Given the description of an element on the screen output the (x, y) to click on. 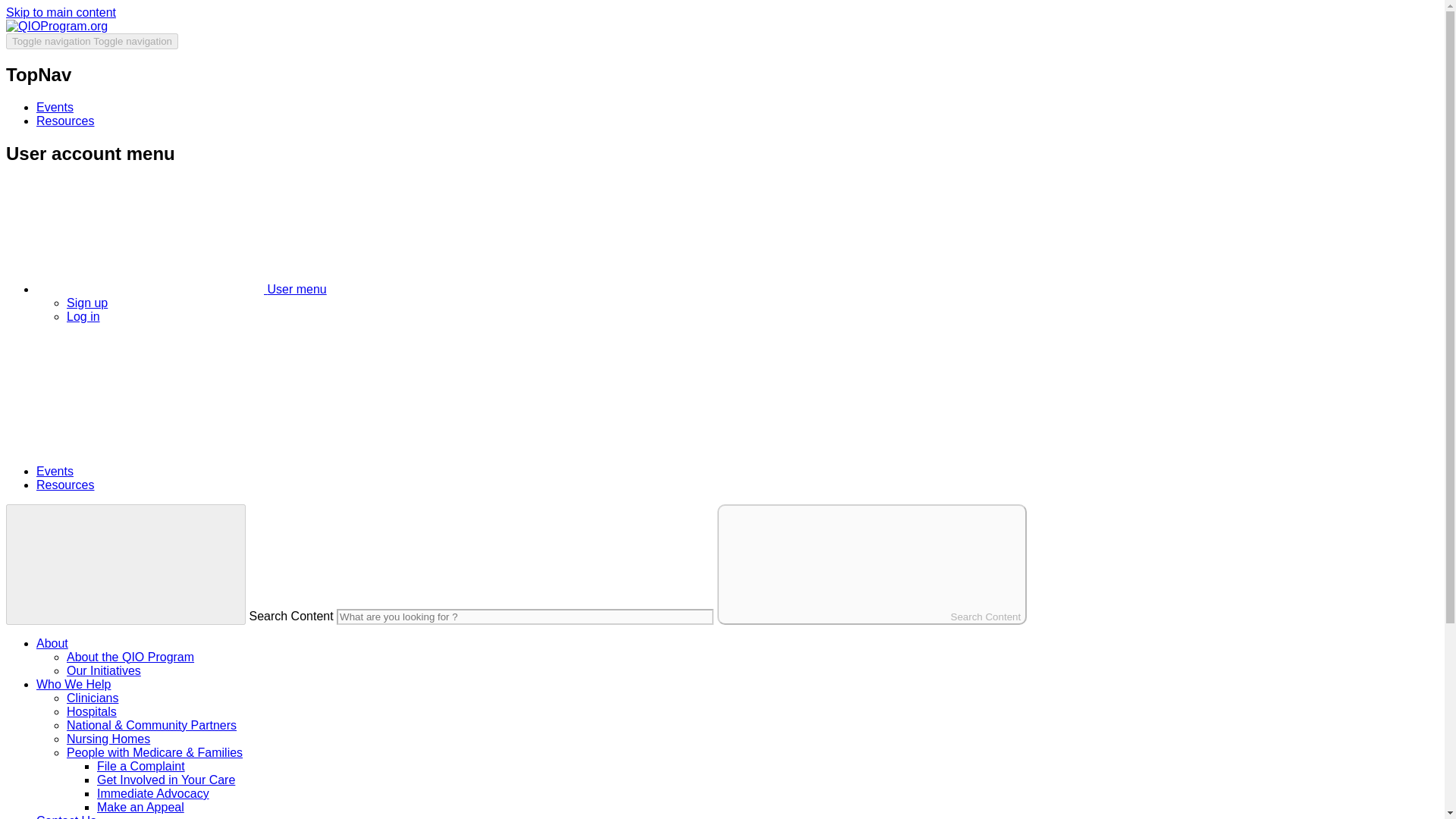
Resources (65, 484)
About the QIO Program (129, 656)
Skip to main content (60, 11)
Sign up (86, 302)
Events (55, 471)
User menu (149, 236)
Click to open search box (118, 445)
File a Complaint (140, 766)
Search (118, 392)
Home (56, 25)
Close search window (125, 564)
Search (118, 445)
Toggle navigation Toggle navigation (91, 41)
About (52, 643)
Log in (83, 316)
